Given the description of an element on the screen output the (x, y) to click on. 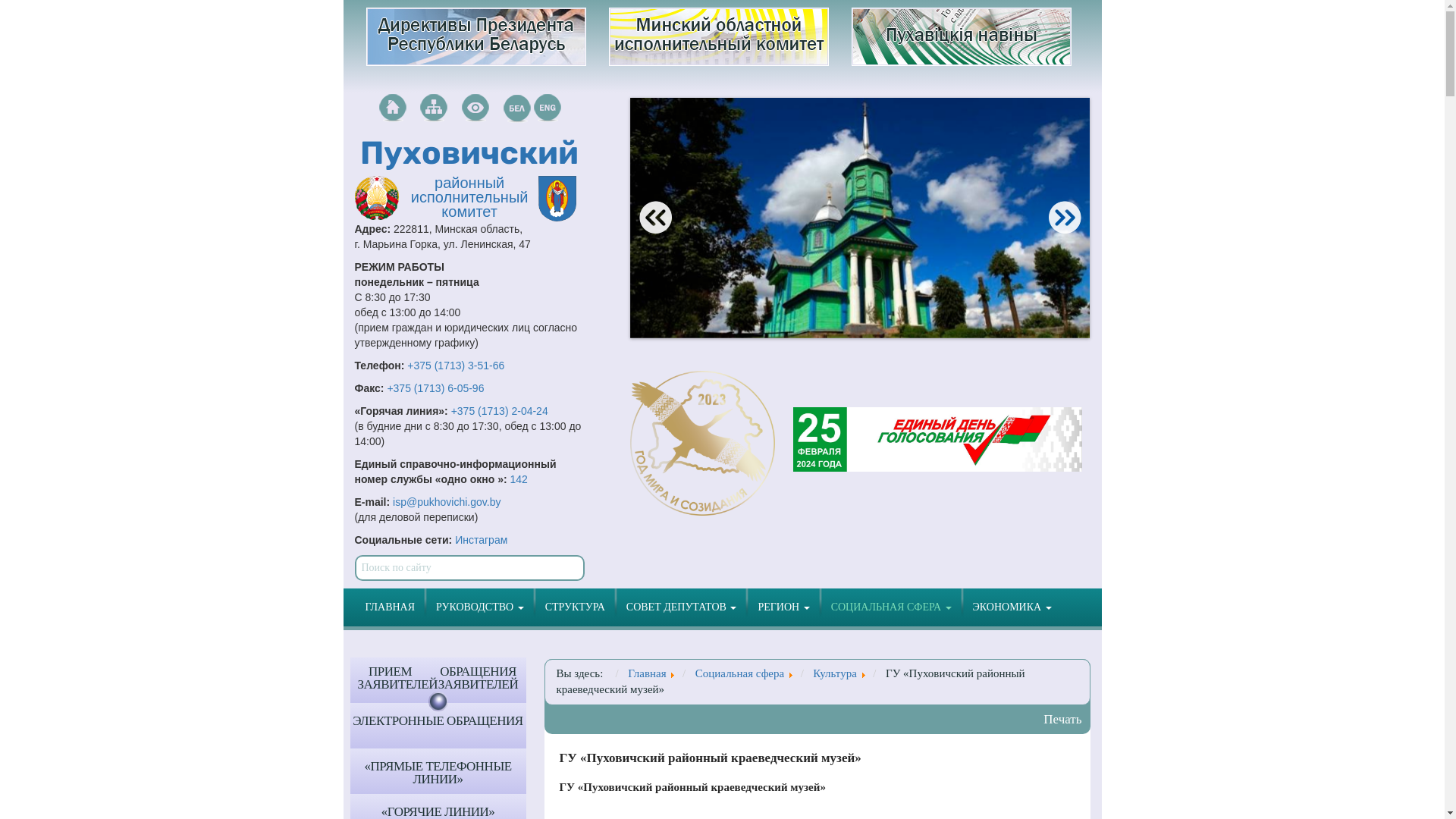
+375 (1713) 2-04-24 Element type: text (499, 410)
+375 (1713) 3-51-66 Element type: text (455, 365)
ENG Element type: hover (547, 107)
isp@pukhovichi.gov.by Element type: text (446, 501)
+375 (1713) 6-05-96 Element type: text (434, 388)
142 Element type: text (518, 479)
